Given the description of an element on the screen output the (x, y) to click on. 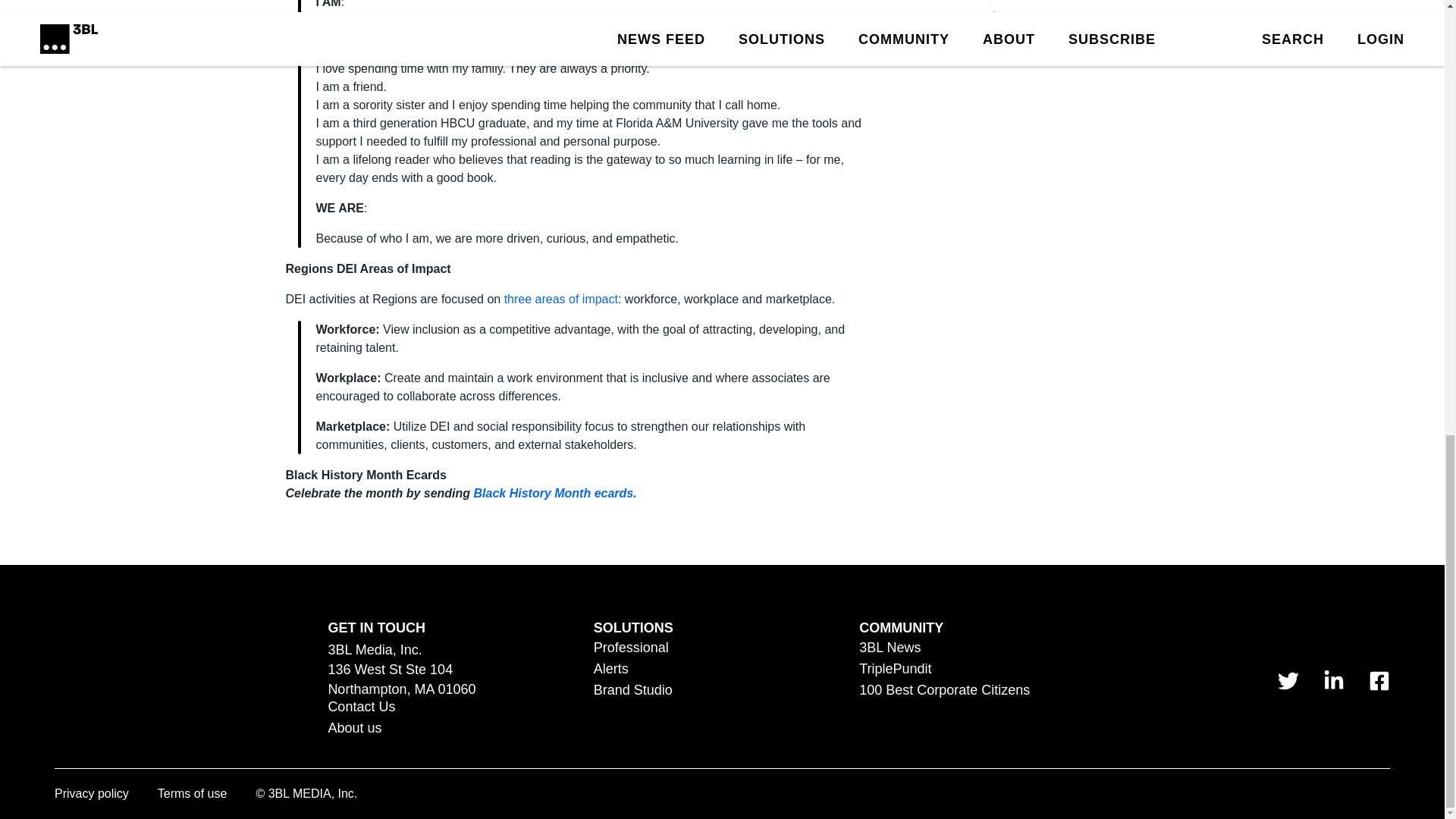
link to 3 B L Media's Twitter (1288, 680)
link to 3 B L Media's Linkedin (1333, 680)
link to 3 B L Media's Facebook (1379, 680)
